Given the description of an element on the screen output the (x, y) to click on. 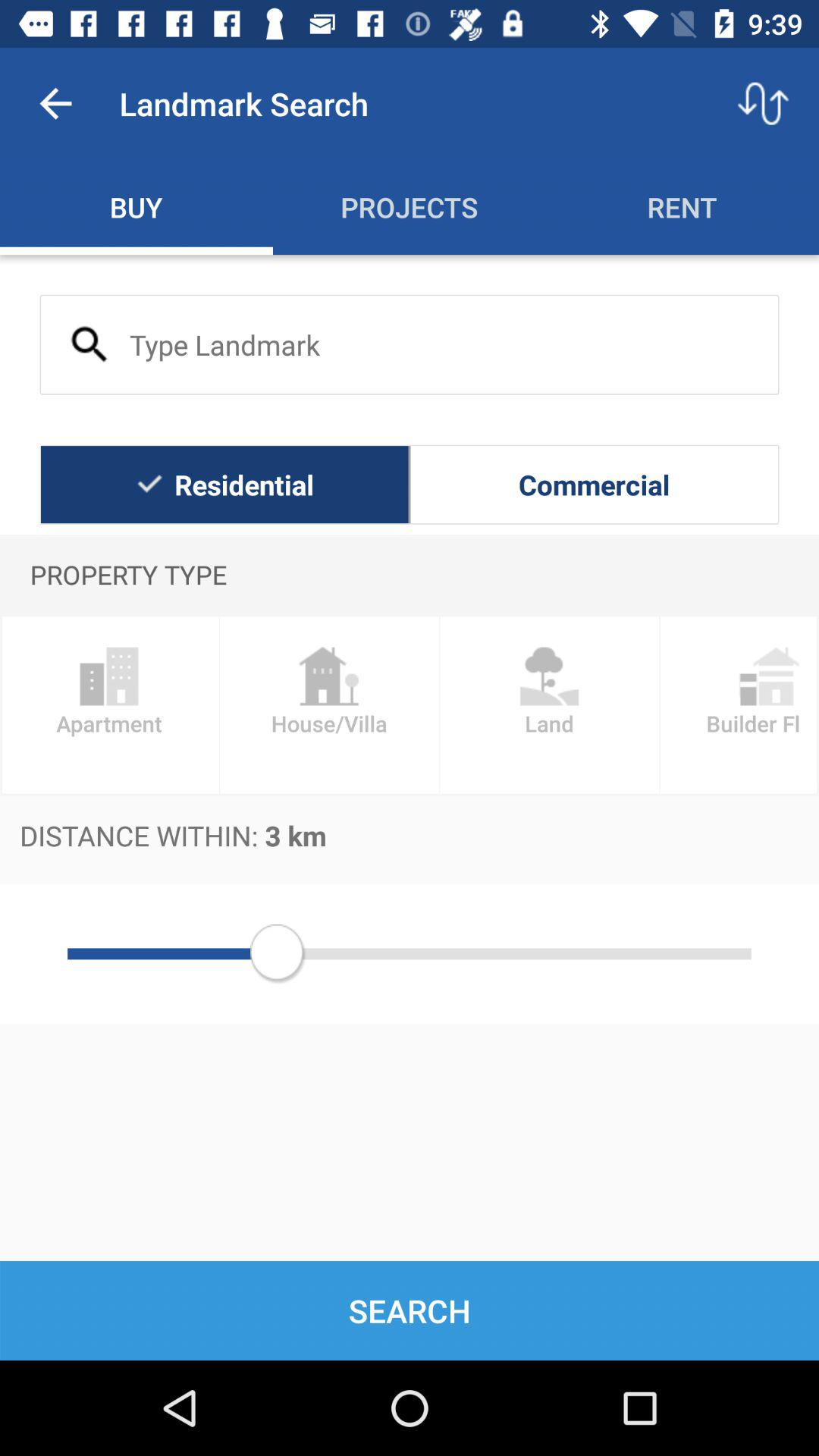
press the item above distance within 3 (549, 704)
